Given the description of an element on the screen output the (x, y) to click on. 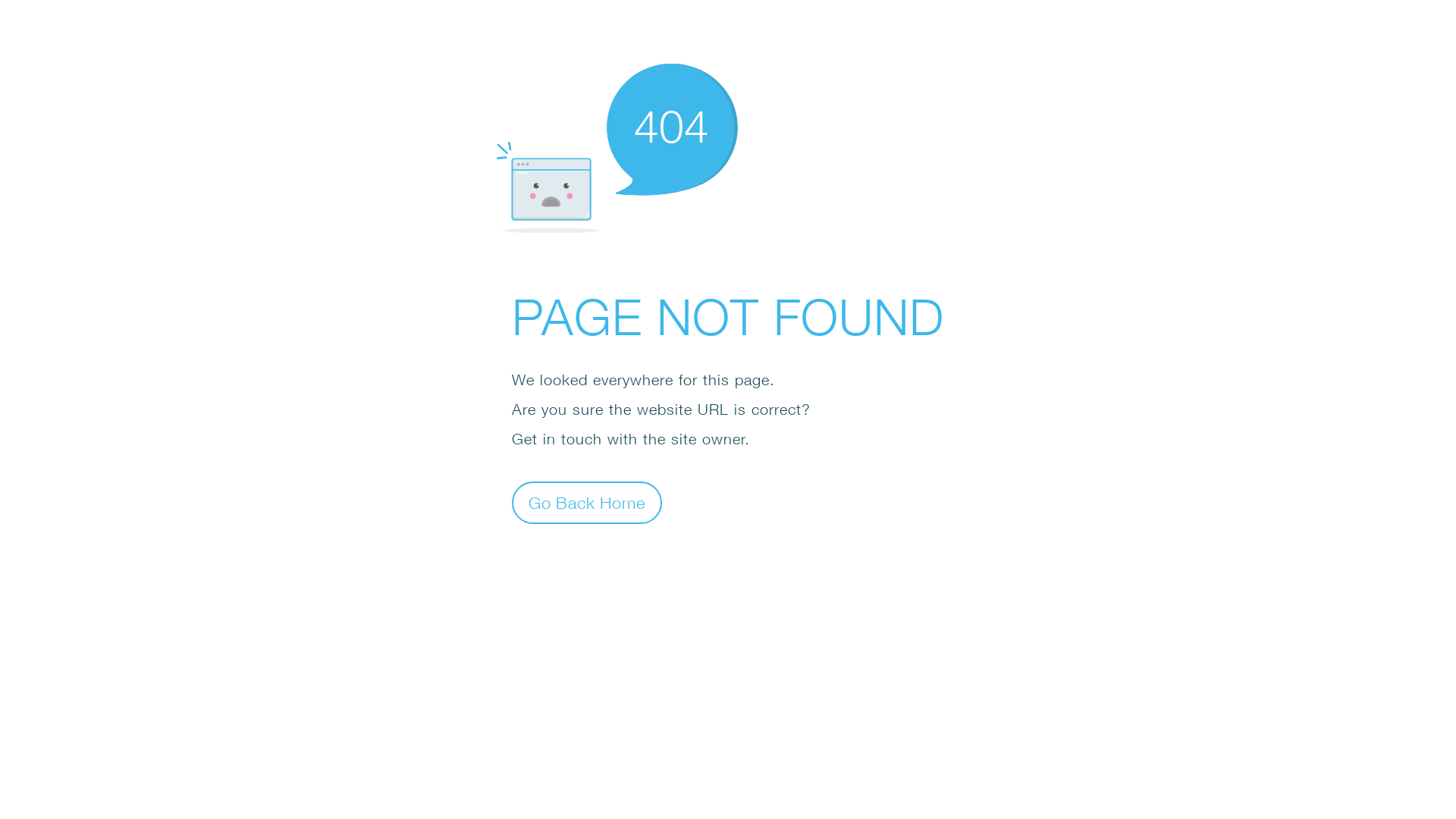
Go Back Home Element type: text (586, 502)
